Given the description of an element on the screen output the (x, y) to click on. 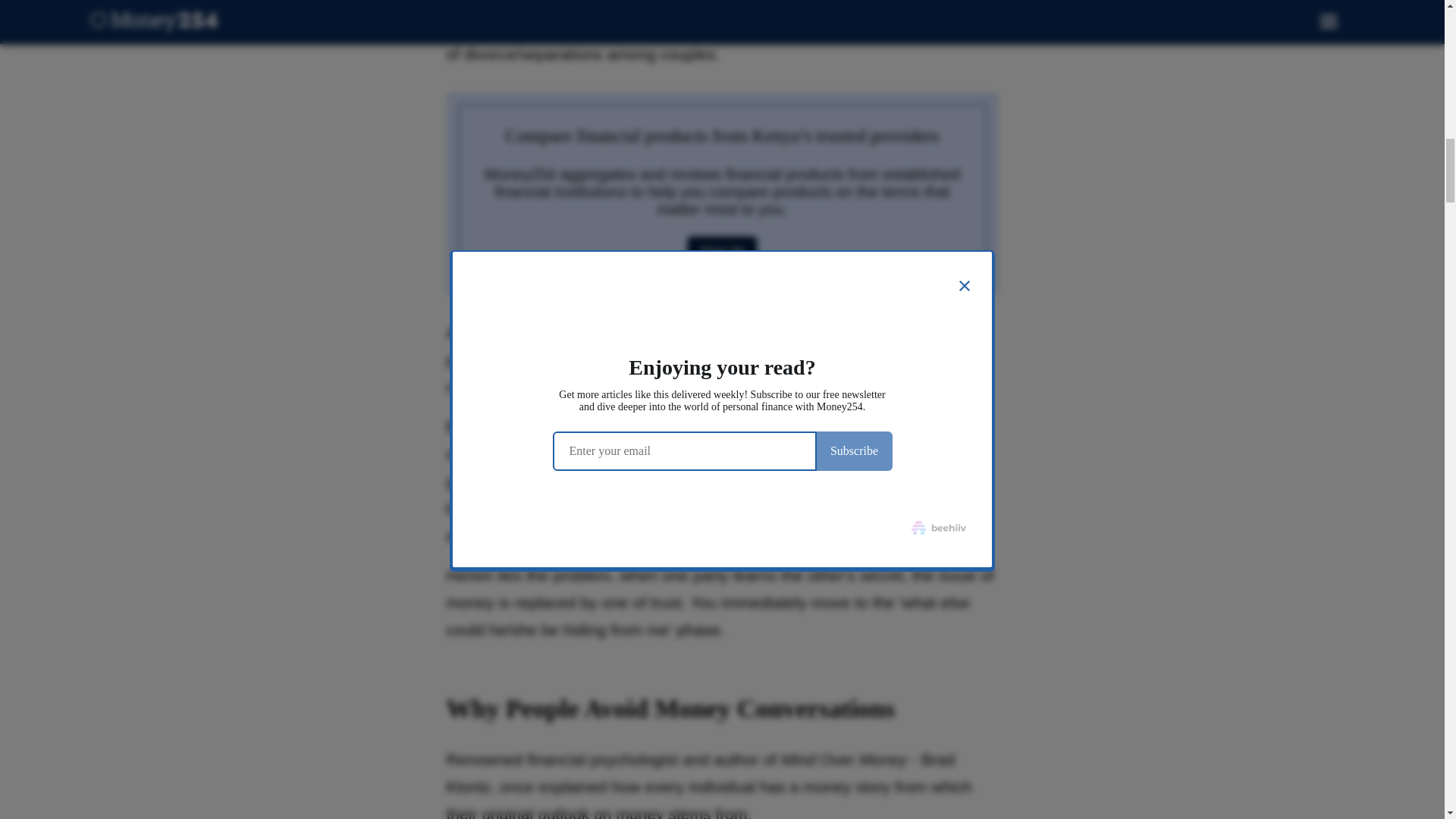
Show Me (722, 249)
